Given the description of an element on the screen output the (x, y) to click on. 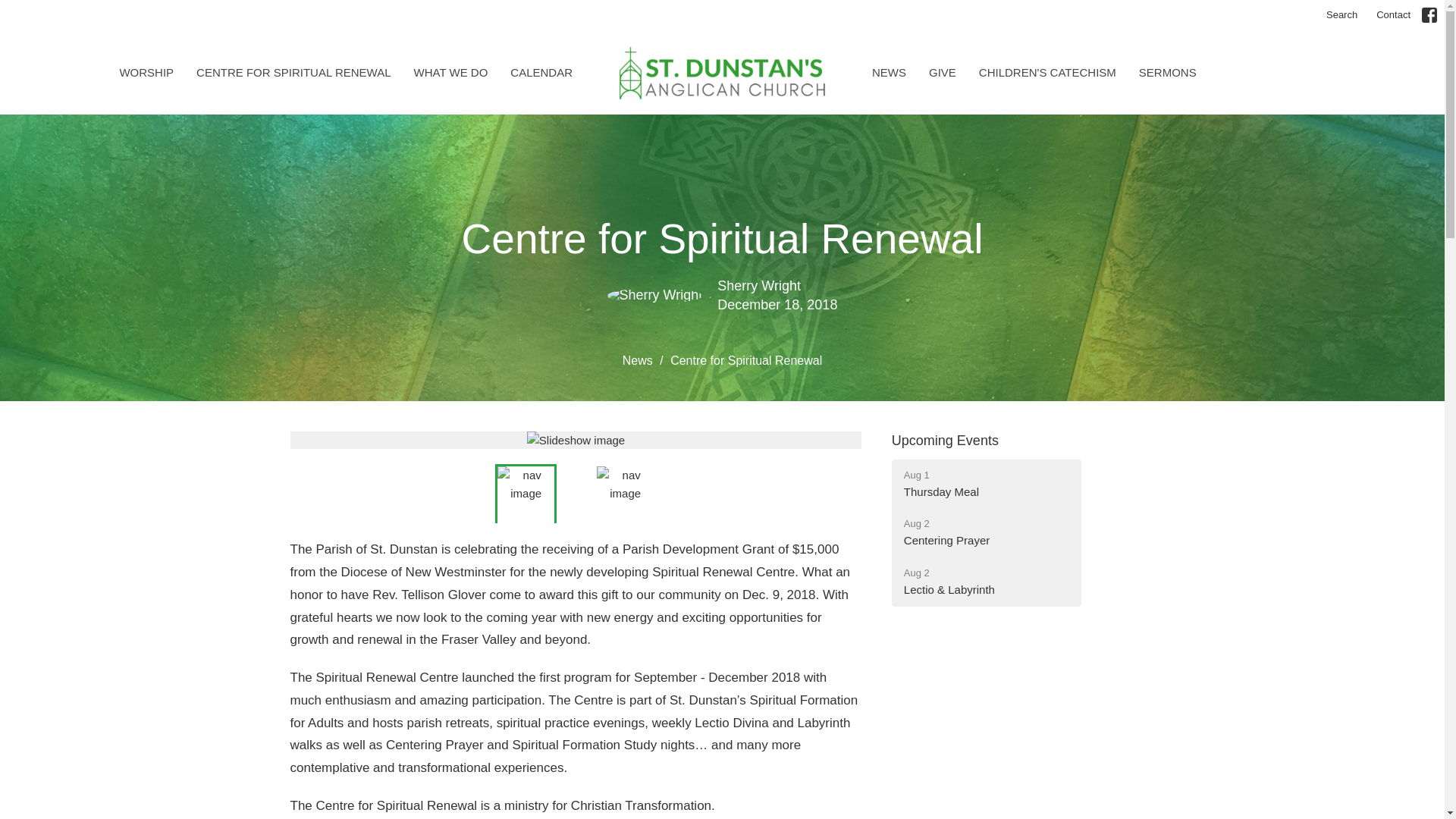
Search (1342, 15)
Upcoming Events (944, 440)
GIVE (942, 72)
WORSHIP (146, 72)
Contact (1393, 15)
SERMONS (1167, 72)
NEWS (888, 72)
CENTRE FOR SPIRITUAL RENEWAL (293, 72)
CALENDAR (986, 532)
WHAT WE DO (986, 483)
CHILDREN'S CATECHISM (541, 72)
News (450, 72)
